Given the description of an element on the screen output the (x, y) to click on. 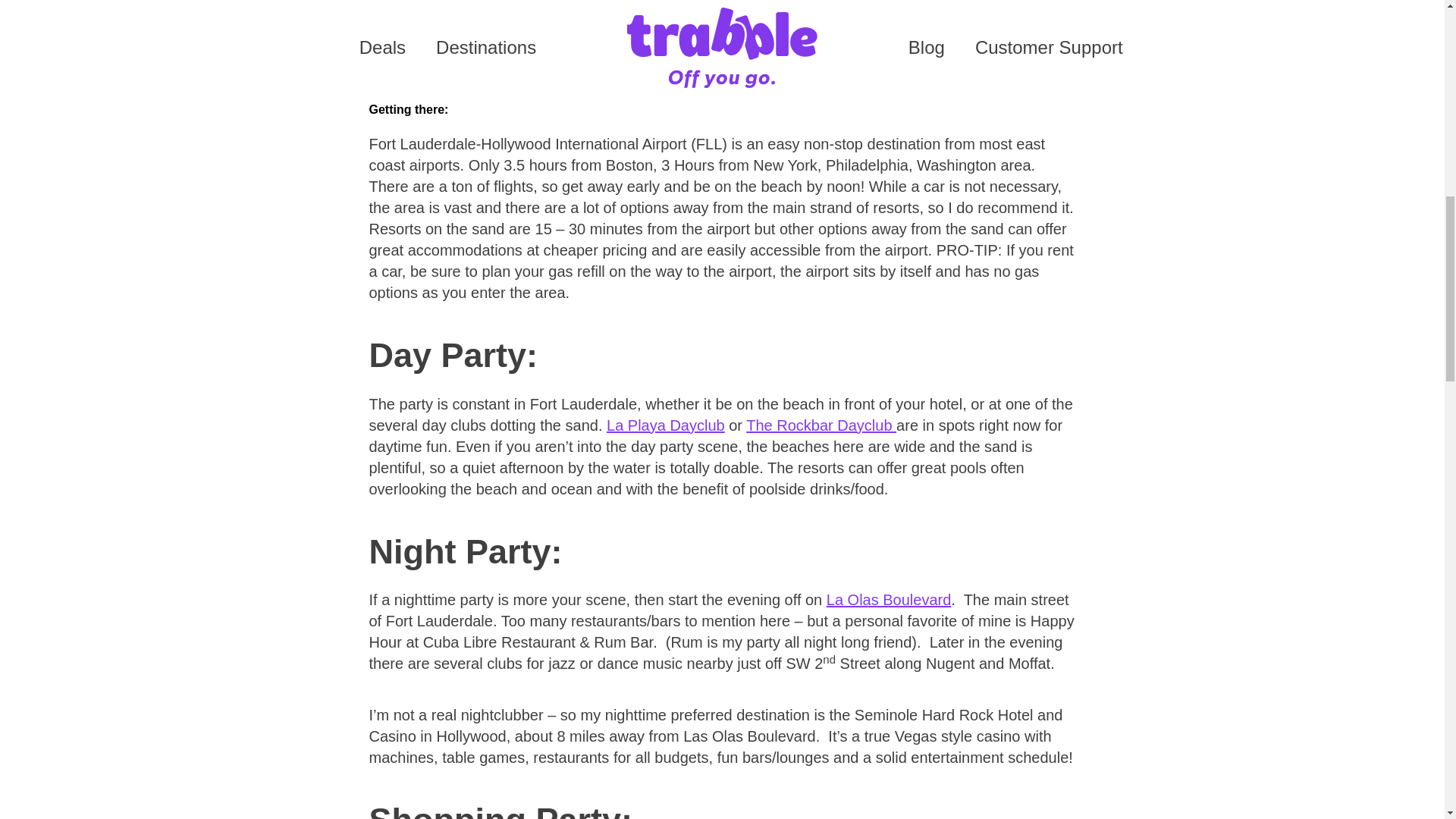
La Olas Boulevard (889, 599)
La Playa Dayclub (666, 425)
The Rockbar Dayclub (820, 425)
